Given the description of an element on the screen output the (x, y) to click on. 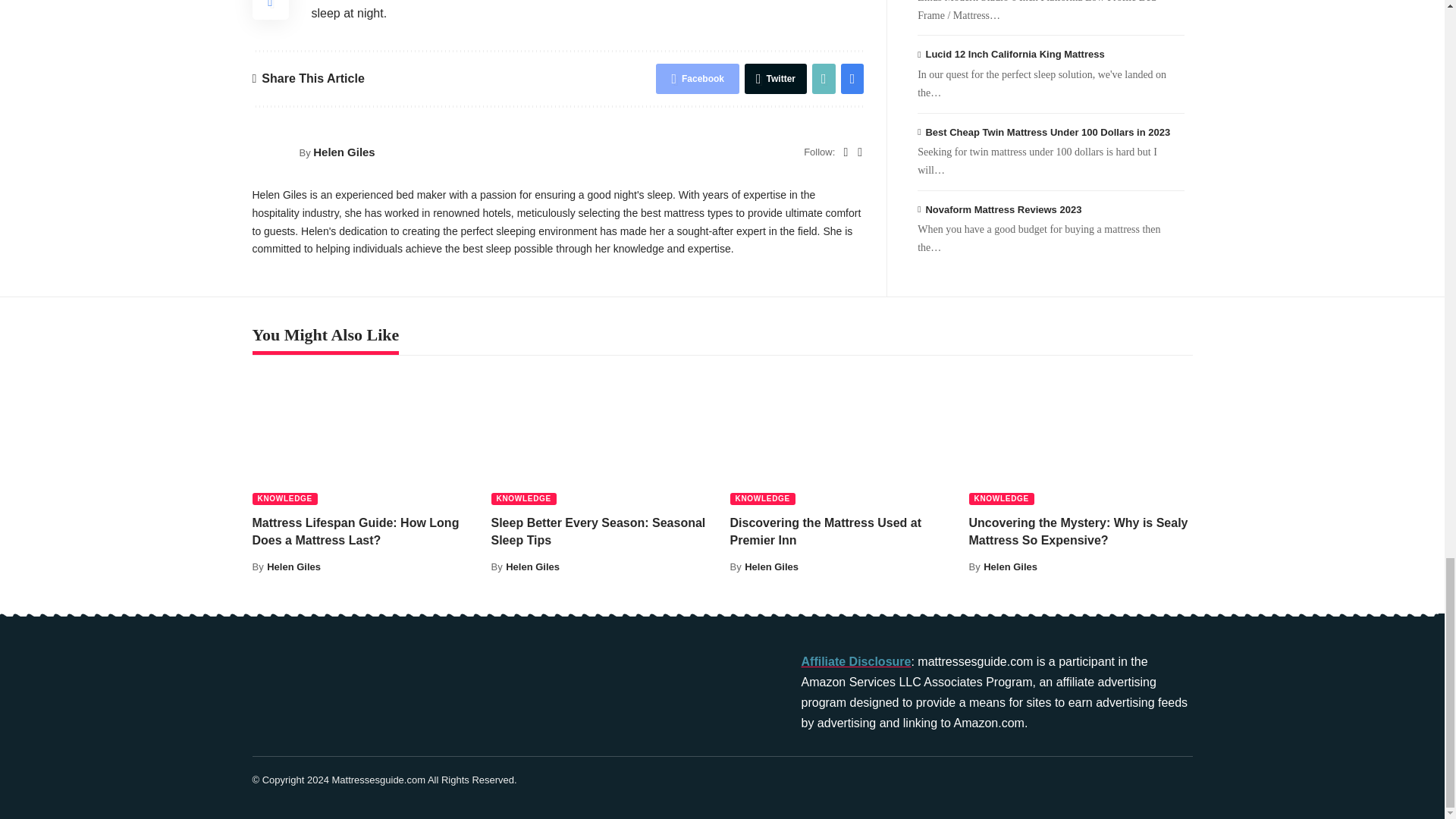
Uncovering the Mystery: Why is Sealy Mattress So Expensive? (1080, 438)
Sleep Better Every Season: Seasonal Sleep Tips (603, 438)
Discovering the Mattress Used at Premier Inn (841, 438)
Mattress Lifespan Guide: How Long Does a Mattress Last? (363, 438)
